Given the description of an element on the screen output the (x, y) to click on. 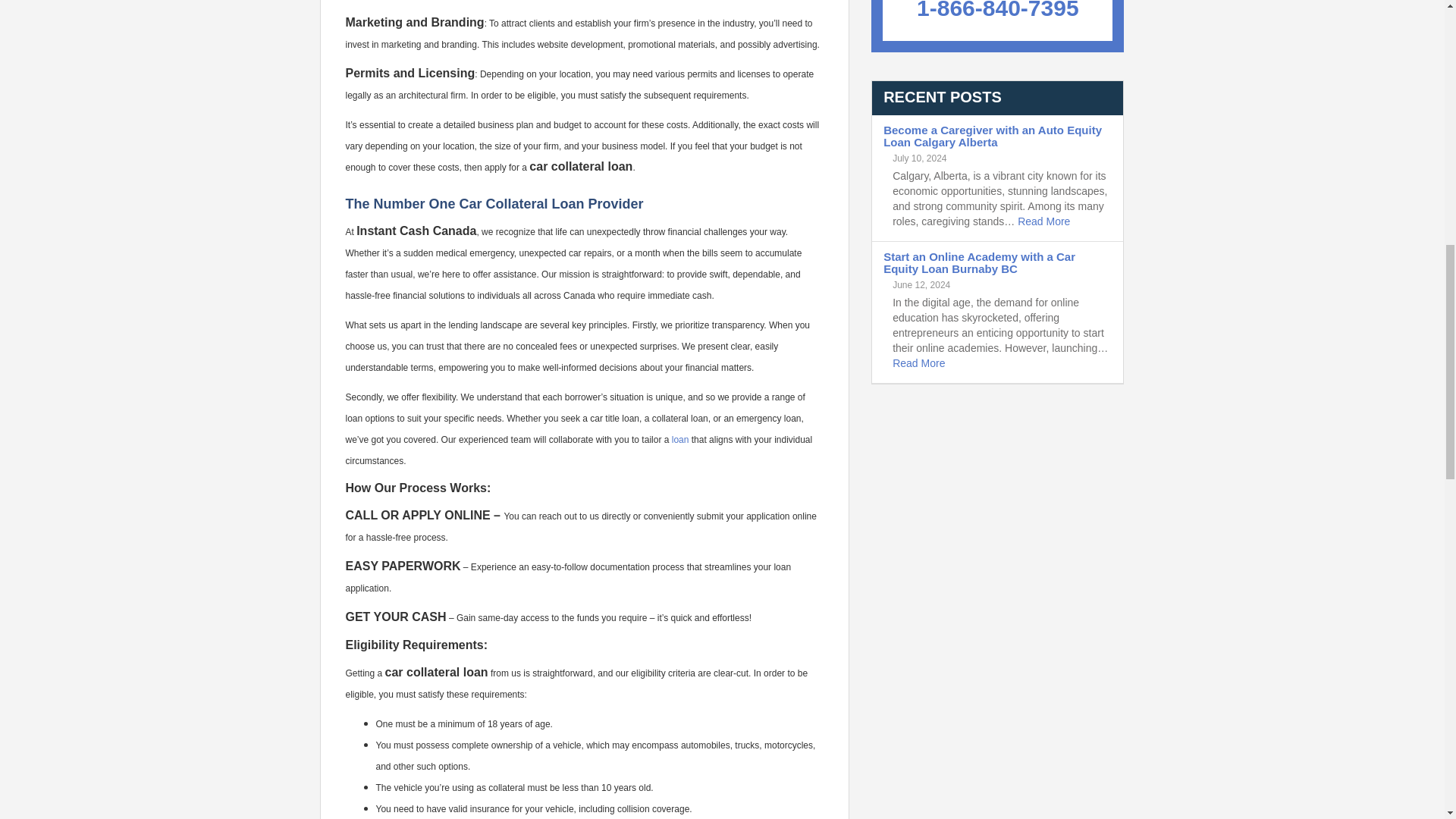
1-866-840-7395 (997, 10)
Read More (918, 363)
Read More (1043, 221)
loan (679, 439)
Start an Online Academy with a Car Equity Loan Burnaby BC (979, 263)
Become a Caregiver with an Auto Equity Loan Calgary Alberta (992, 136)
